Given the description of an element on the screen output the (x, y) to click on. 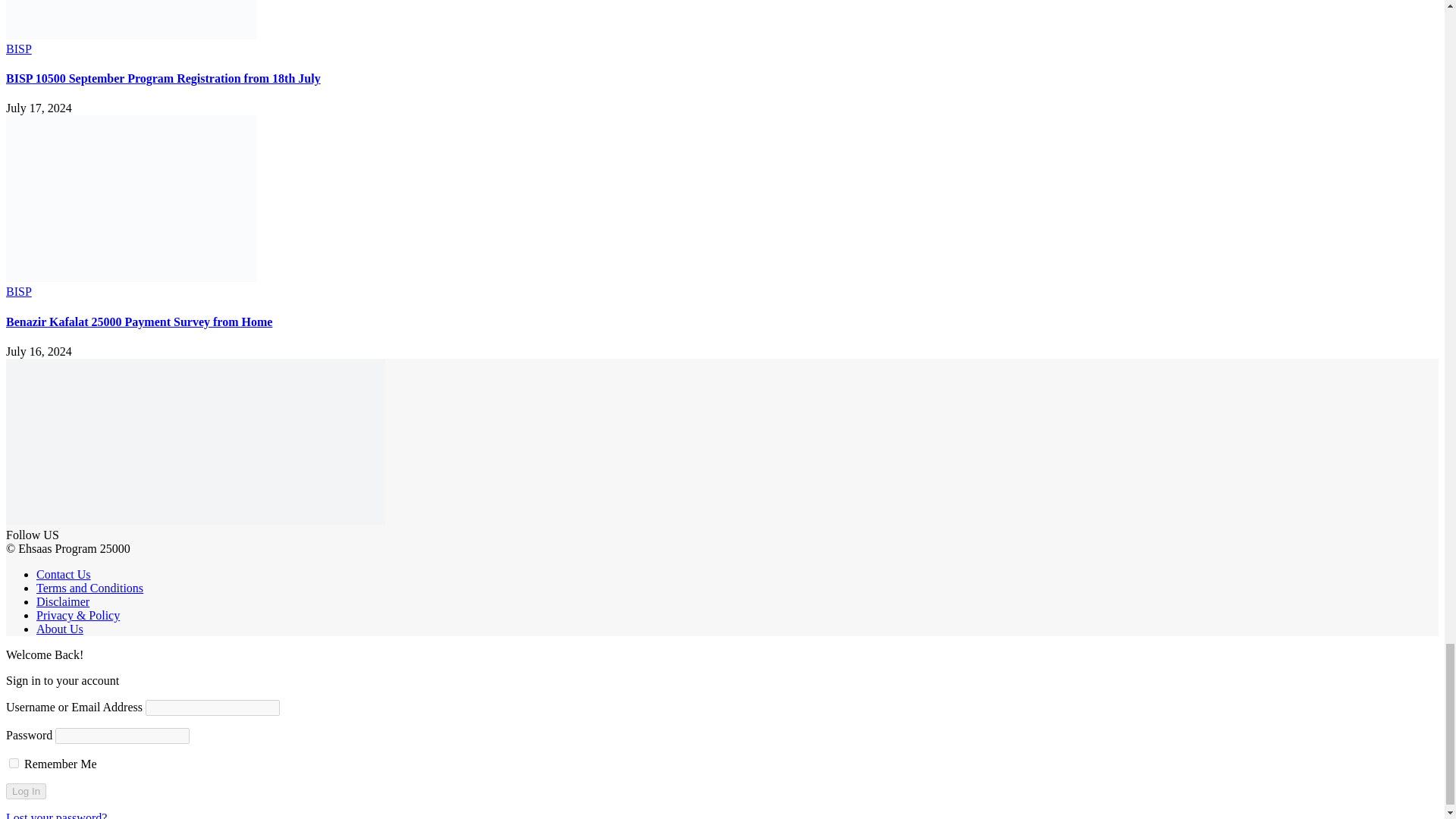
BISP 10500 September Program Registration from 18th July (130, 34)
Benazir Kafalat 25000 Payment Survey from Home (130, 277)
8171 Ehsaas Program BISP (195, 521)
forever (13, 763)
Log In (25, 790)
